Given the description of an element on the screen output the (x, y) to click on. 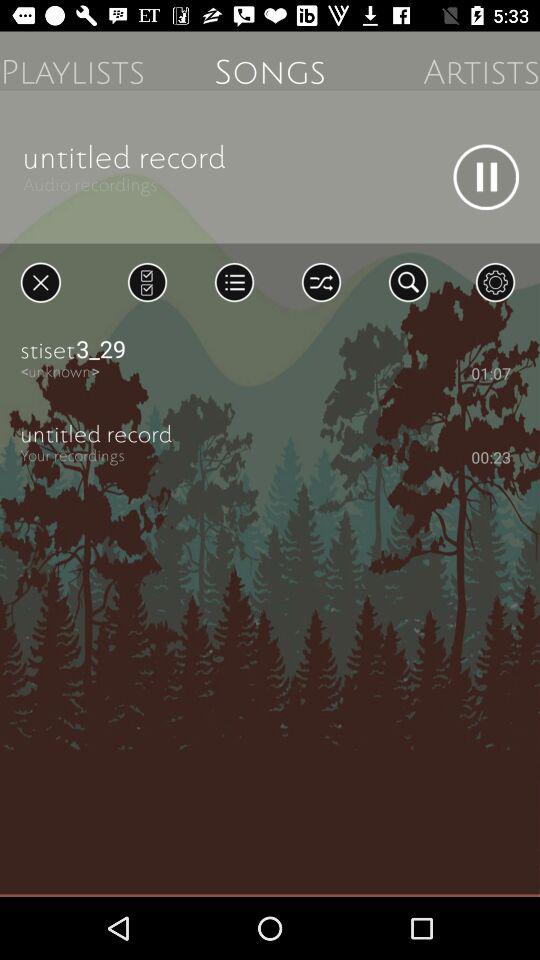
pause option (486, 177)
